Given the description of an element on the screen output the (x, y) to click on. 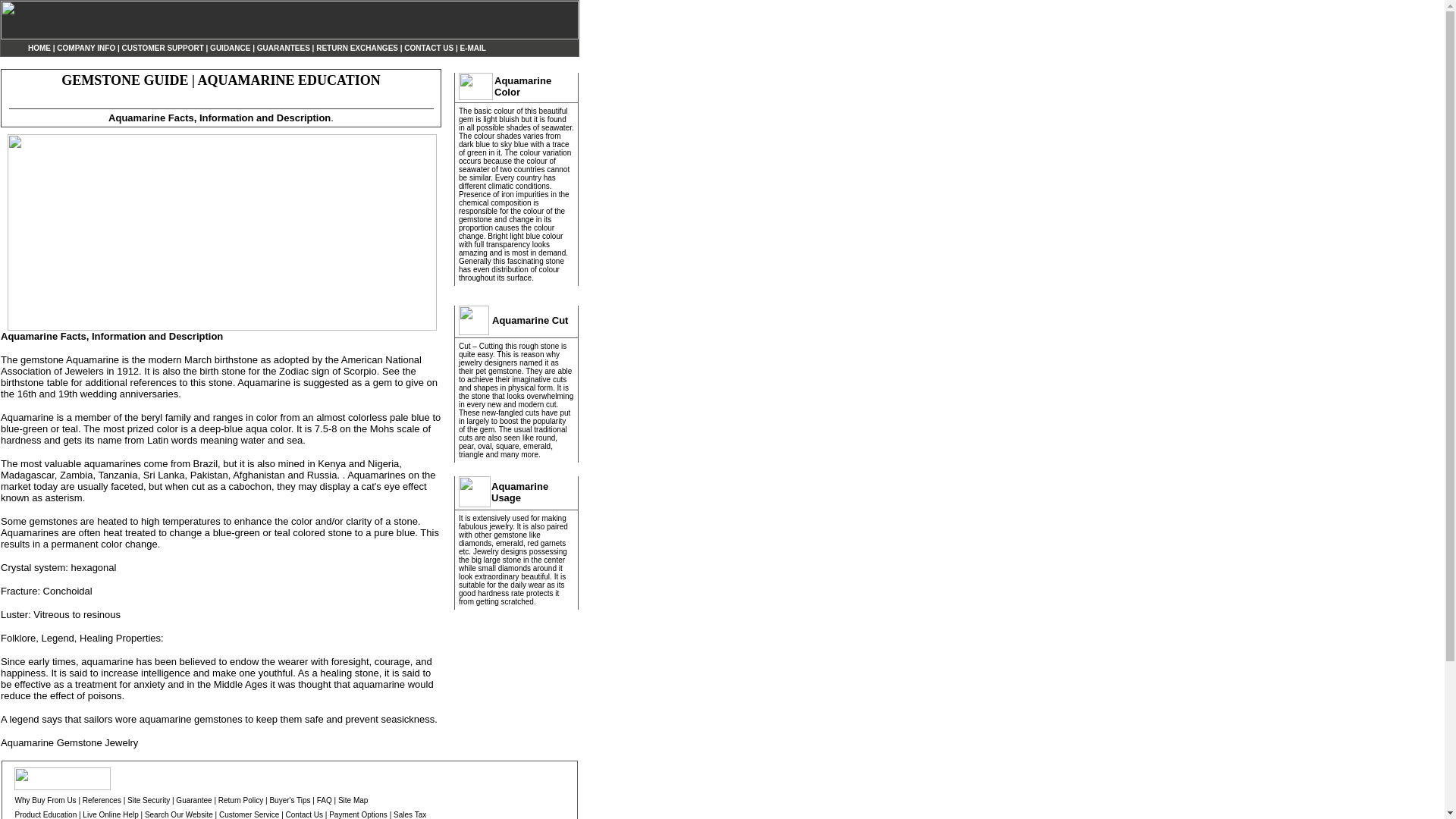
References (101, 798)
COMPANY INFO (85, 48)
RETURN EXCHANGES (356, 45)
GUIDANCE (229, 45)
Site Map (352, 798)
CONTACT US (428, 45)
Contact Us (304, 812)
Buyer's Tips (289, 798)
Why Buy From Us (44, 798)
Live Online Help (110, 812)
